Given the description of an element on the screen output the (x, y) to click on. 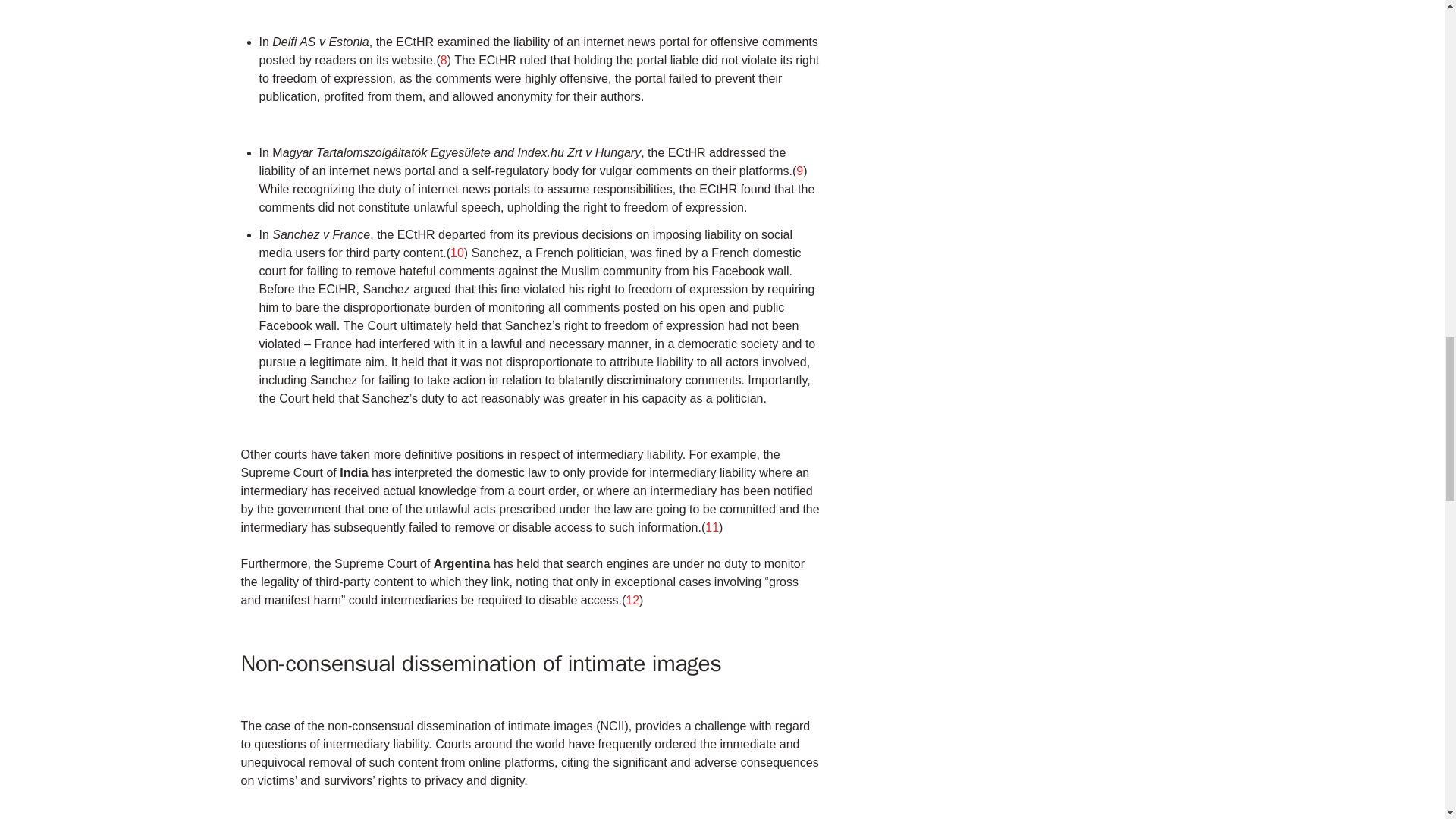
10 (456, 252)
11 (711, 526)
12 (632, 599)
